Given the description of an element on the screen output the (x, y) to click on. 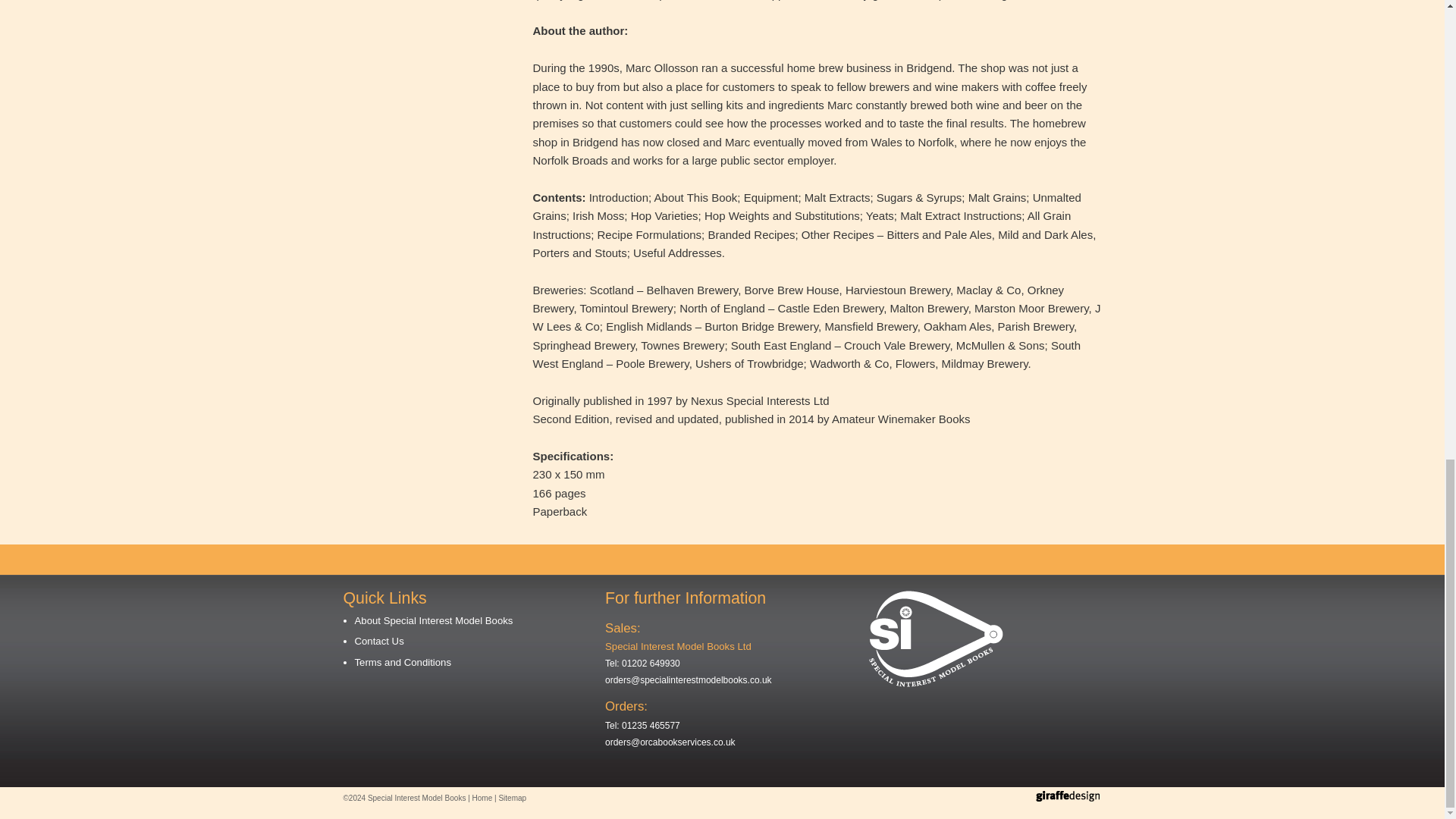
Giraffe Design - Bournemouth (1067, 796)
About Special Interest Model Books (434, 620)
Contact Us (379, 641)
Terms and Conditions (403, 662)
